Given the description of an element on the screen output the (x, y) to click on. 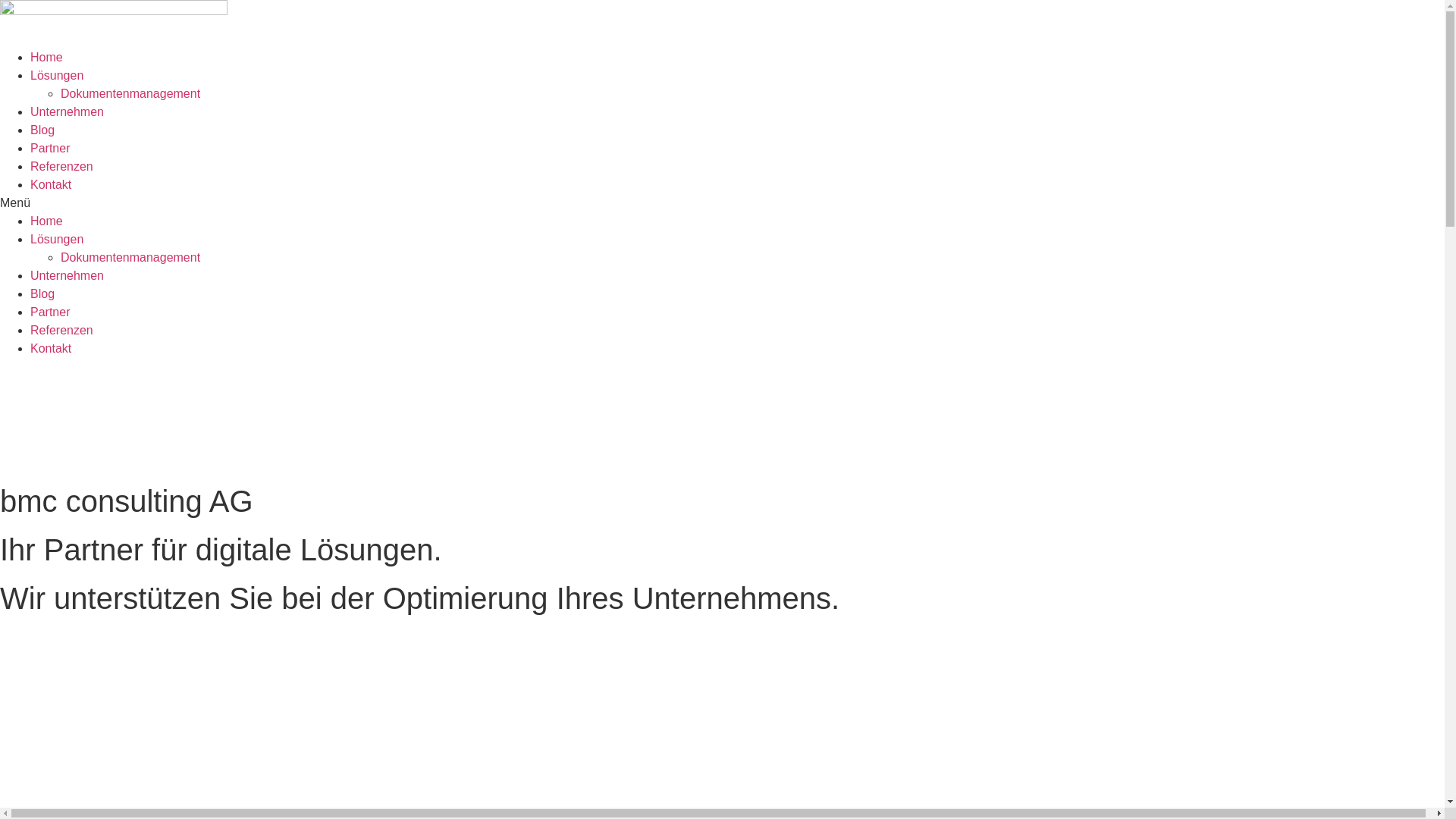
Blog Element type: text (42, 129)
Referenzen Element type: text (61, 329)
Kontakt Element type: text (50, 184)
Unternehmen Element type: text (66, 275)
Blog Element type: text (42, 293)
Unternehmen Element type: text (66, 111)
Kontakt Element type: text (50, 348)
Referenzen Element type: text (61, 166)
Home Element type: text (46, 220)
Dokumentenmanagement Element type: text (130, 93)
Partner Element type: text (49, 147)
Dokumentenmanagement Element type: text (130, 257)
Home Element type: text (46, 56)
Partner Element type: text (49, 311)
